Given the description of an element on the screen output the (x, y) to click on. 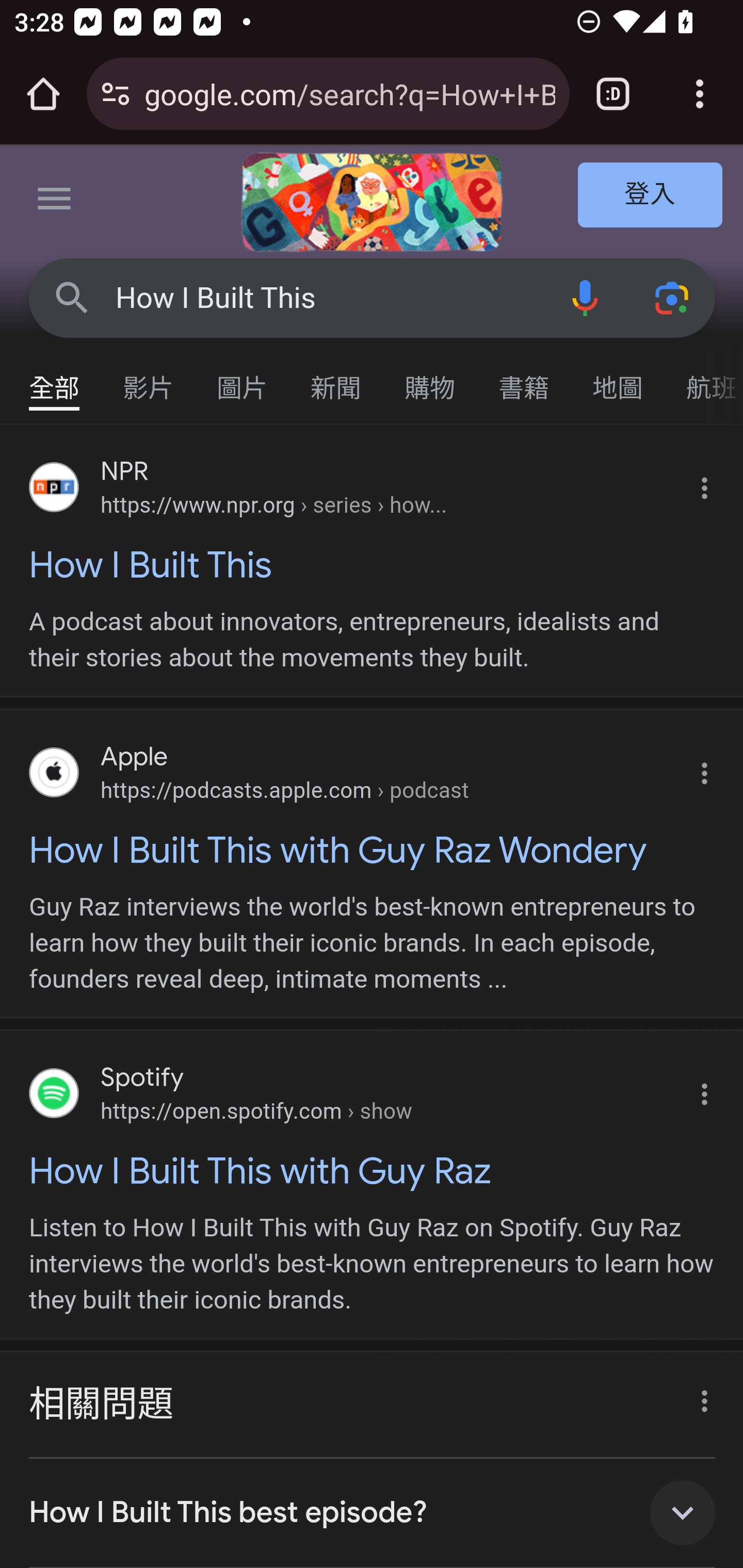
Open the home page (43, 93)
Connection is secure (115, 93)
Switch or close tabs (612, 93)
Customize and control Google Chrome (699, 93)
主選單 (54, 202)
登入 (650, 195)
Google 搜尋 (71, 296)
使用相機或相片搜尋 (672, 296)
How I Built This (328, 297)
影片 (148, 378)
圖片 (242, 378)
新聞 (336, 378)
購物 (430, 378)
書籍 (524, 378)
地圖 (618, 378)
航班 (703, 378)
How I Built This (372, 564)
How I Built This with Guy Raz Wondery (372, 849)
How I Built This with Guy Raz (372, 1170)
關於此結果 (698, 1395)
How I Built This best episode? (372, 1512)
